Given the description of an element on the screen output the (x, y) to click on. 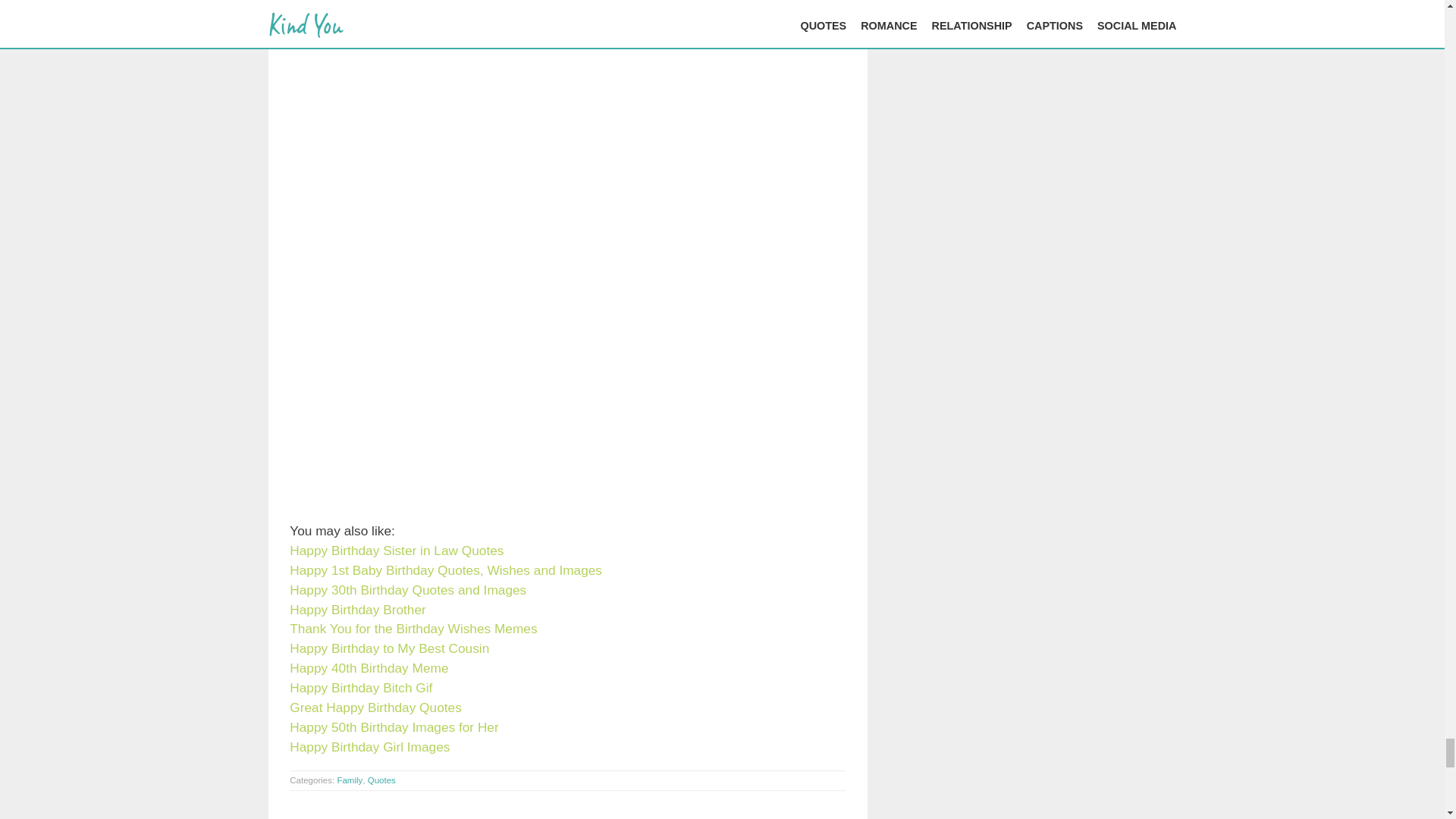
Family (349, 779)
Happy 30th Birthday Quotes and Images (407, 589)
Quotes (382, 779)
Happy 40th Birthday Meme (368, 667)
Happy Birthday Girl Images (369, 746)
Happy Birthday to My Best Cousin (389, 648)
Great Happy Birthday Quotes (375, 707)
Happy 1st Baby Birthday Quotes, Wishes and Images (445, 570)
Happy 50th Birthday Images for Her (393, 726)
Happy Birthday Brother (357, 609)
Thank You for the Birthday Wishes Memes (413, 628)
Happy Birthday Bitch Gif (360, 687)
Happy Birthday Sister in Law Quotes (396, 549)
